Given the description of an element on the screen output the (x, y) to click on. 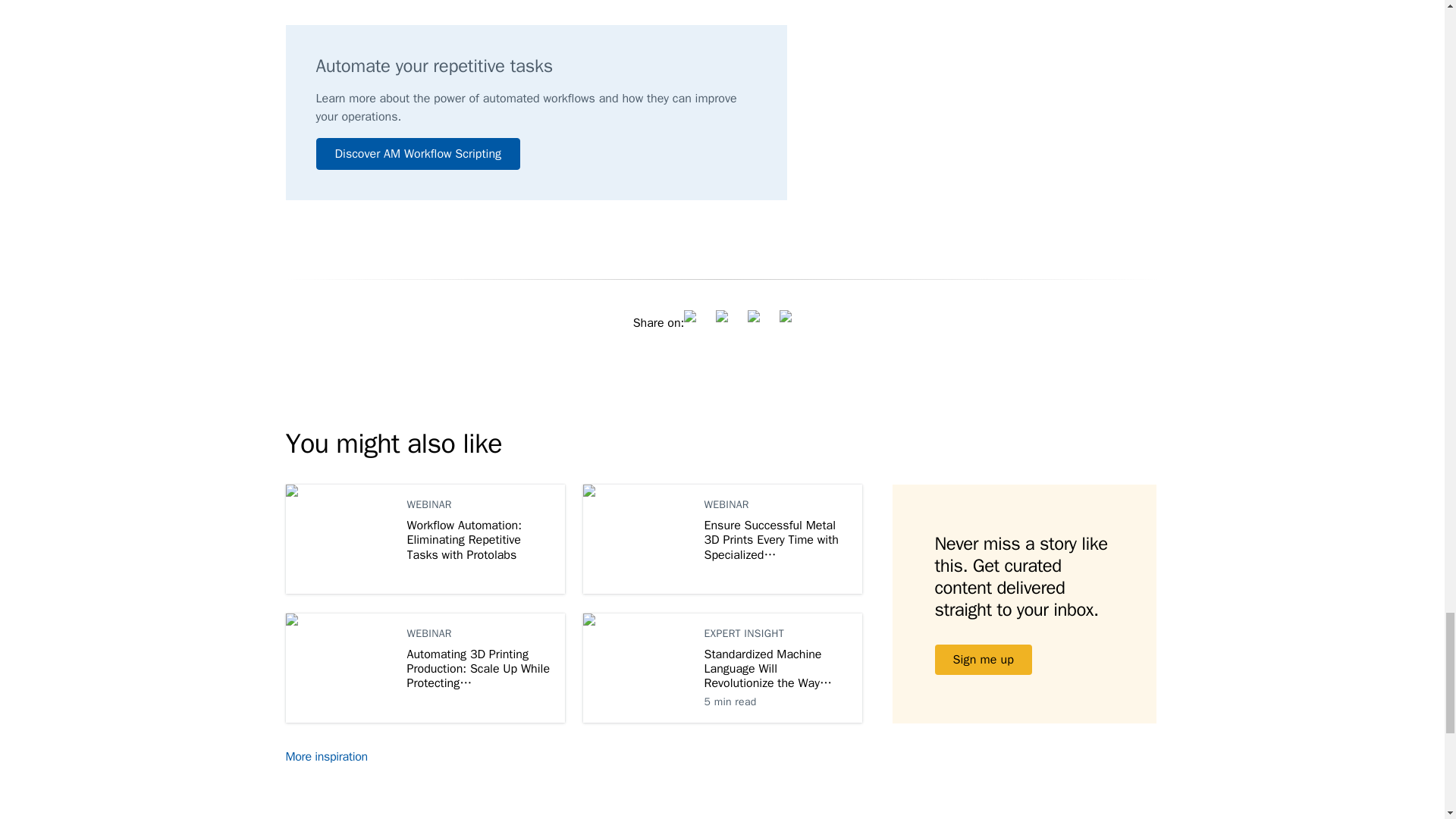
More inspiration (335, 756)
Sign me up (983, 659)
Discover AM Workflow Scripting (417, 153)
